Given the description of an element on the screen output the (x, y) to click on. 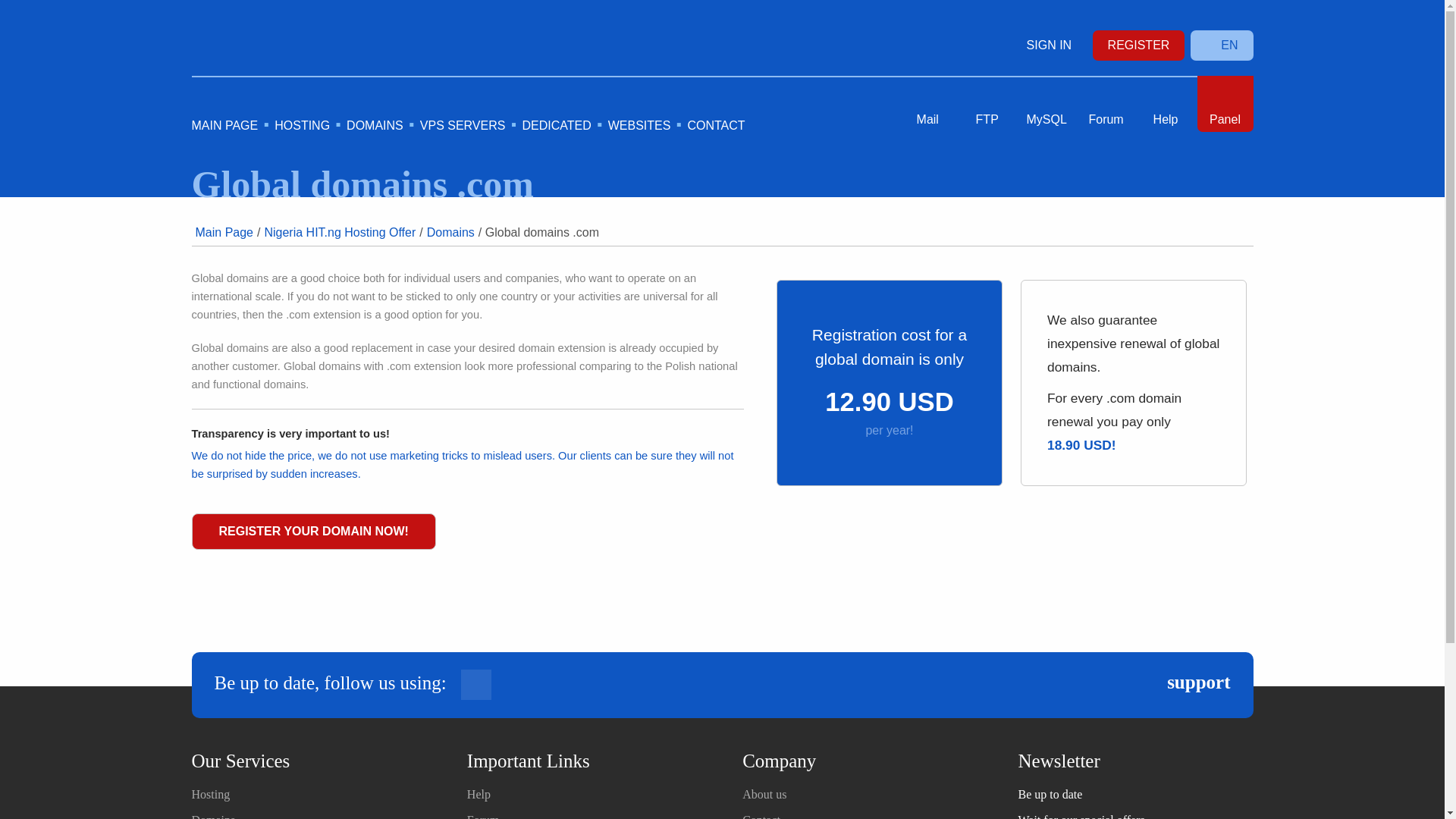
MAIN PAGE (223, 124)
MySQL (1045, 103)
Help (1165, 103)
Domains (212, 816)
Main Page (224, 232)
Forum (1106, 103)
FTP (986, 103)
Panel (1224, 103)
VPS SERVERS (462, 124)
Nigeria Hosting HIT.ng (323, 33)
